Given the description of an element on the screen output the (x, y) to click on. 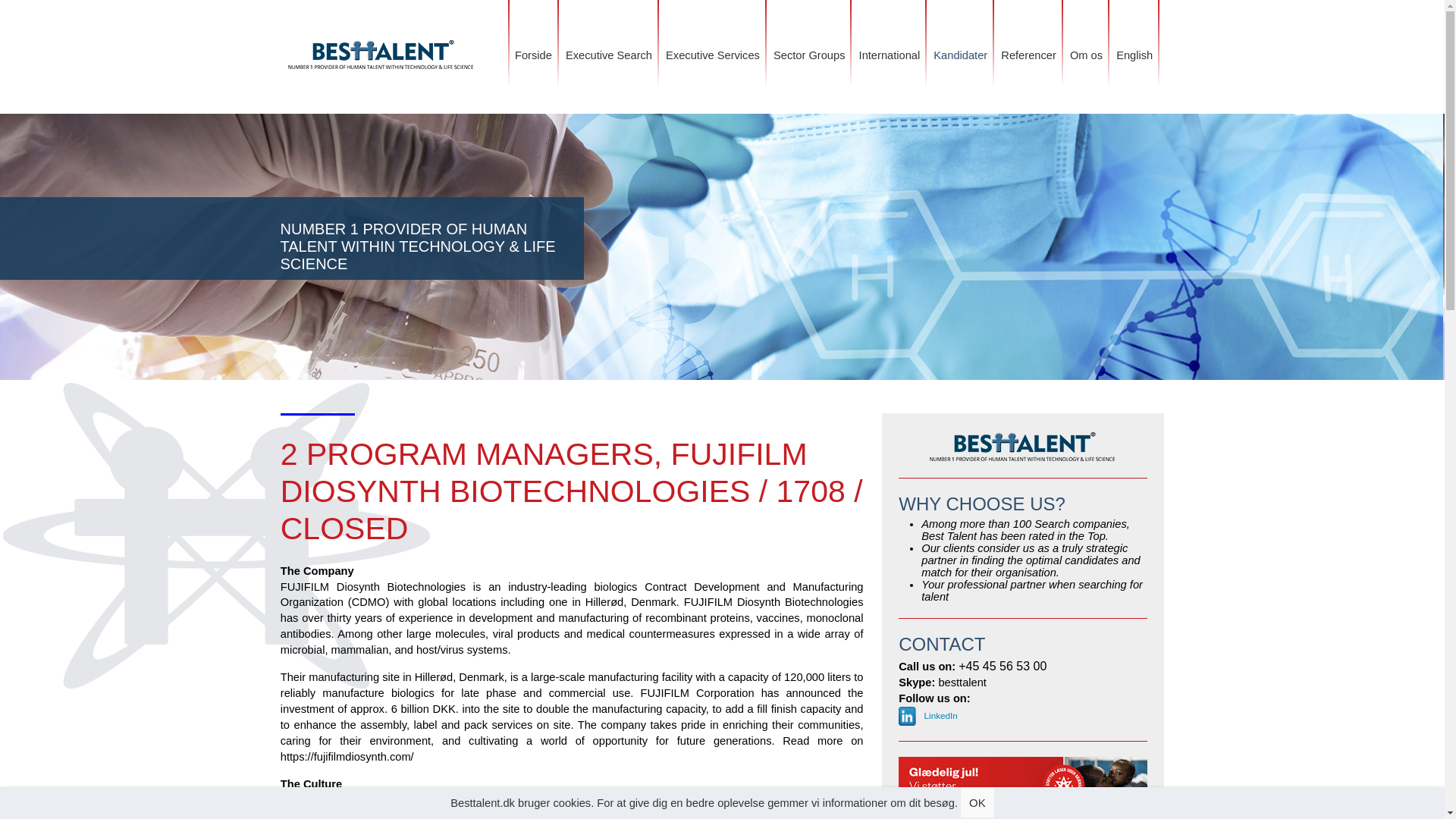
International (889, 38)
Sector Groups (809, 38)
Executive Search (609, 38)
Kandidater (960, 38)
Executive Services (713, 38)
